Given the description of an element on the screen output the (x, y) to click on. 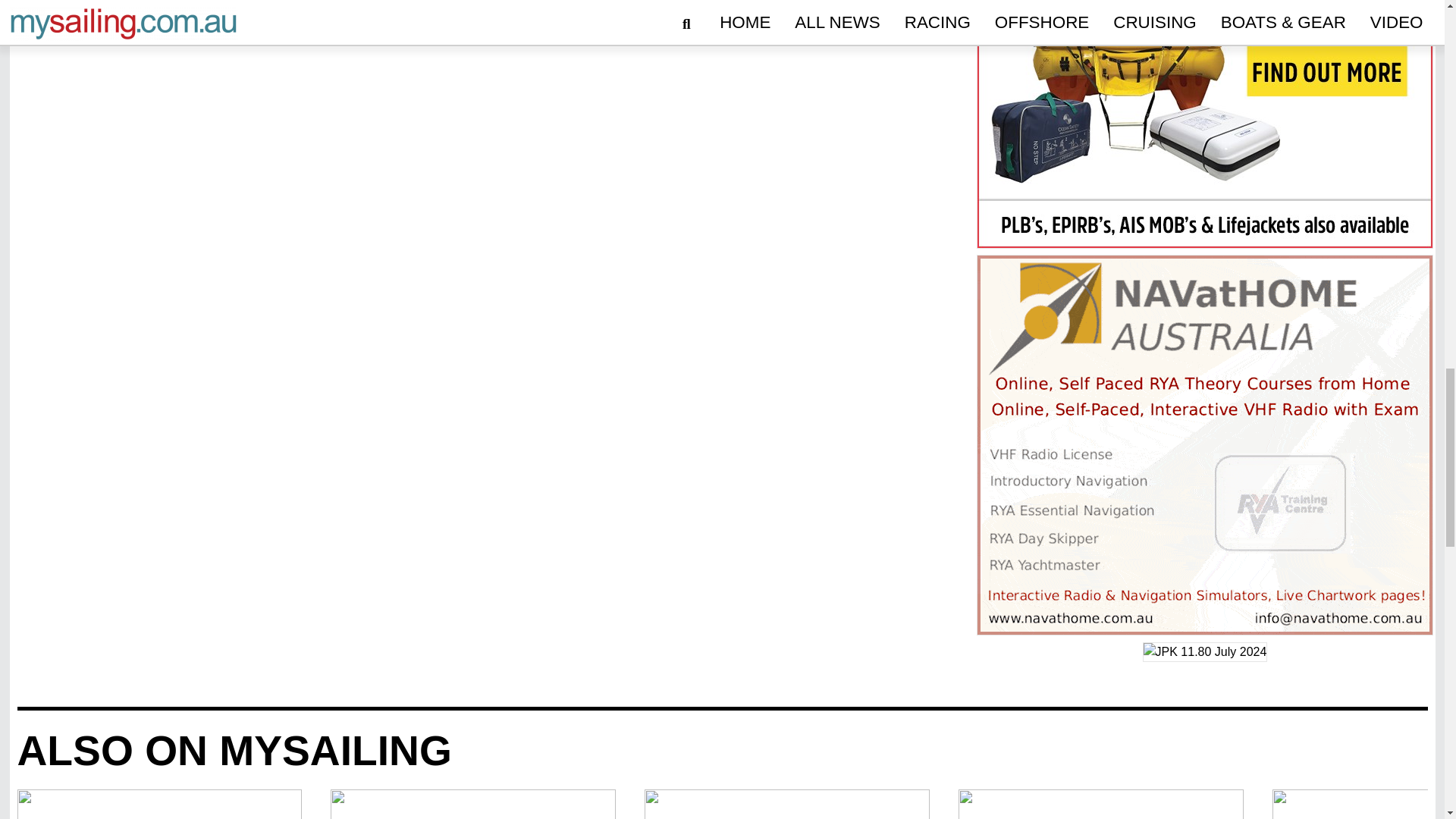
Next (1407, 804)
Dragonfly Trimarans (158, 804)
Previous (35, 804)
